Given the description of an element on the screen output the (x, y) to click on. 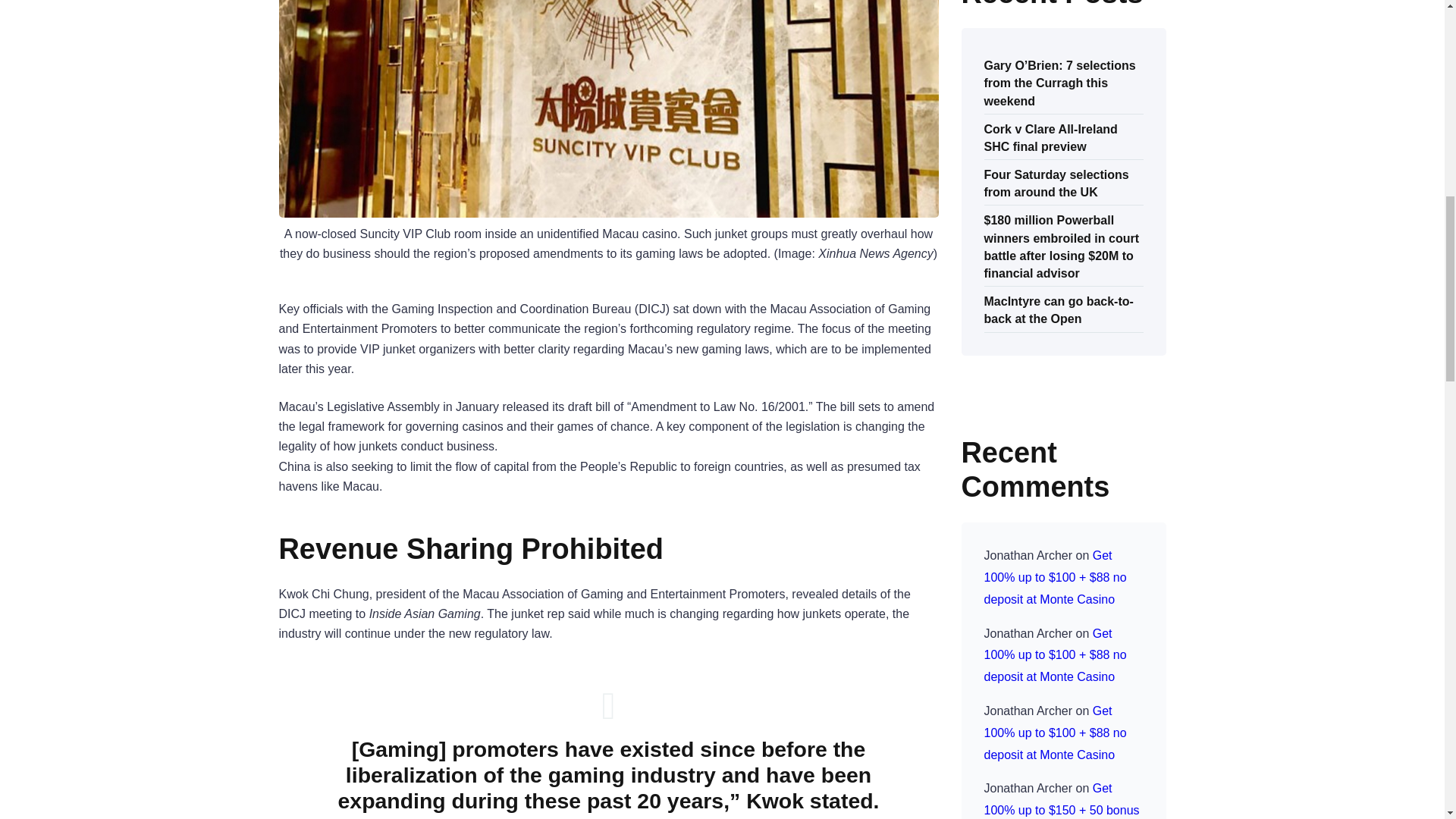
MacIntyre can go back-to-back at the Open (1059, 309)
Four Saturday selections from around the UK (1056, 182)
Cork v Clare All-Ireland SHC final preview (1051, 137)
